Given the description of an element on the screen output the (x, y) to click on. 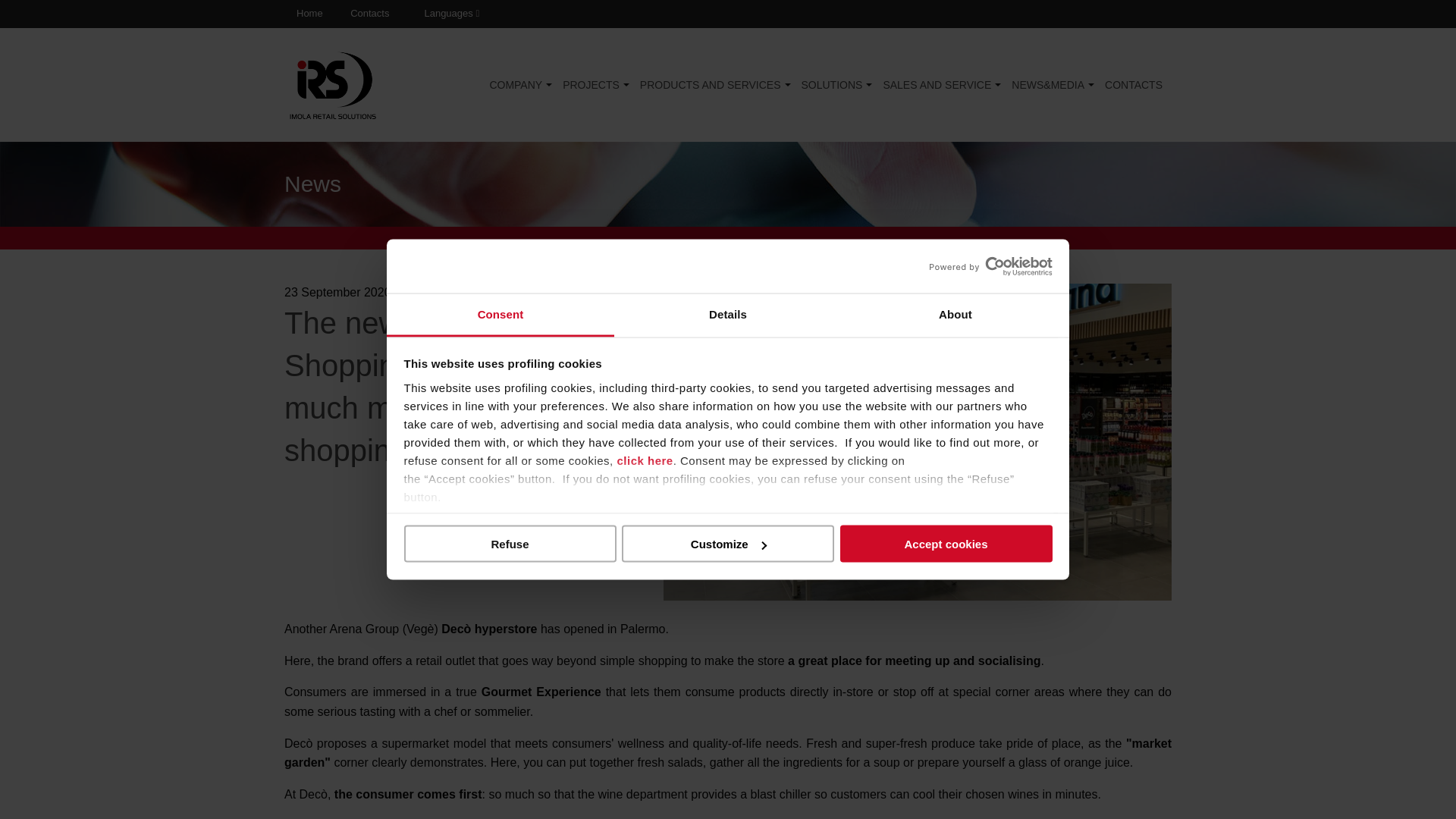
click here (643, 459)
Customize (727, 543)
Details (727, 314)
About (954, 314)
Consent (500, 314)
Refuse (509, 543)
